Given the description of an element on the screen output the (x, y) to click on. 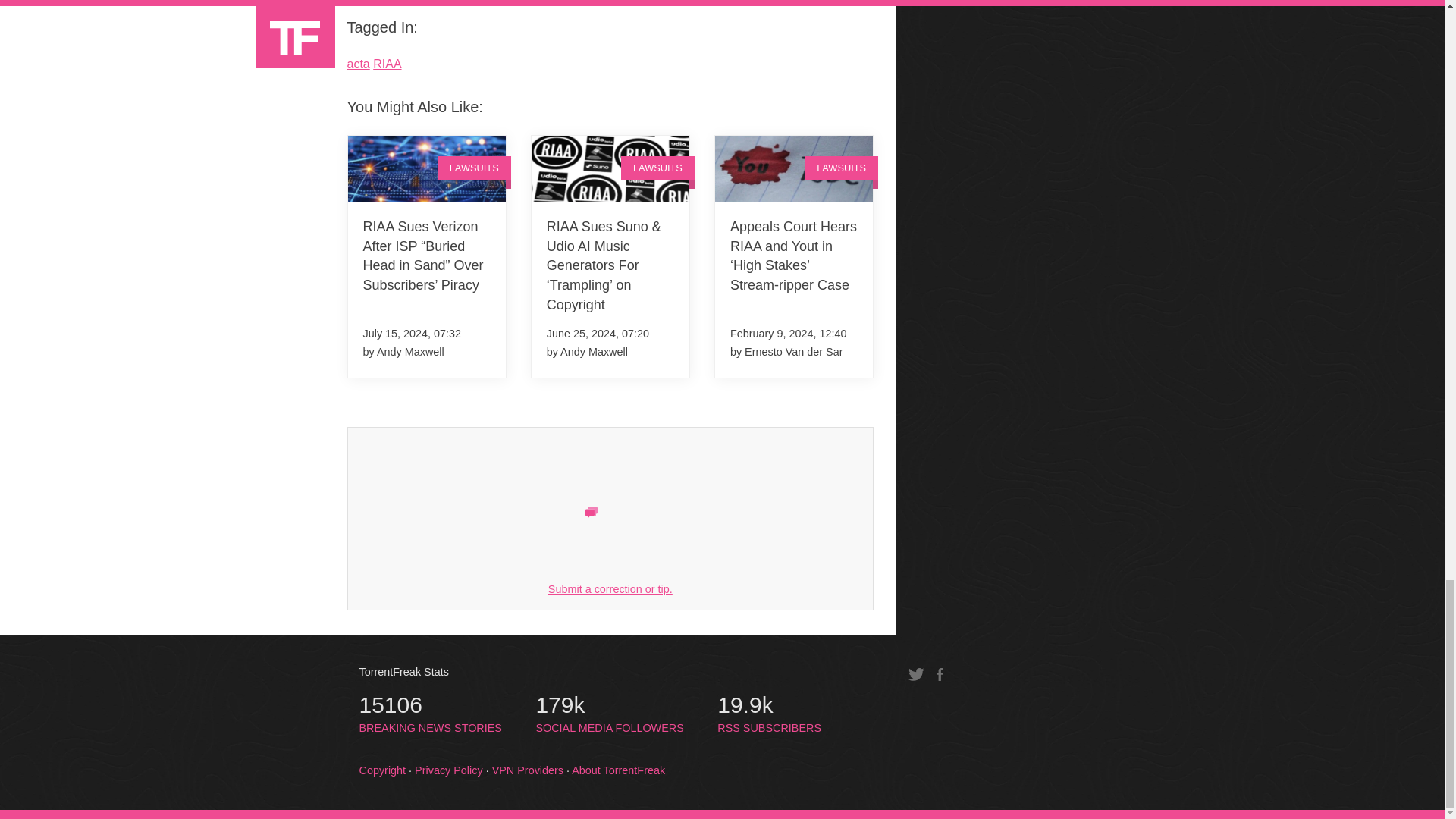
Submit a correction or tip. (610, 589)
RIAA (386, 63)
acta (358, 63)
